Given the description of an element on the screen output the (x, y) to click on. 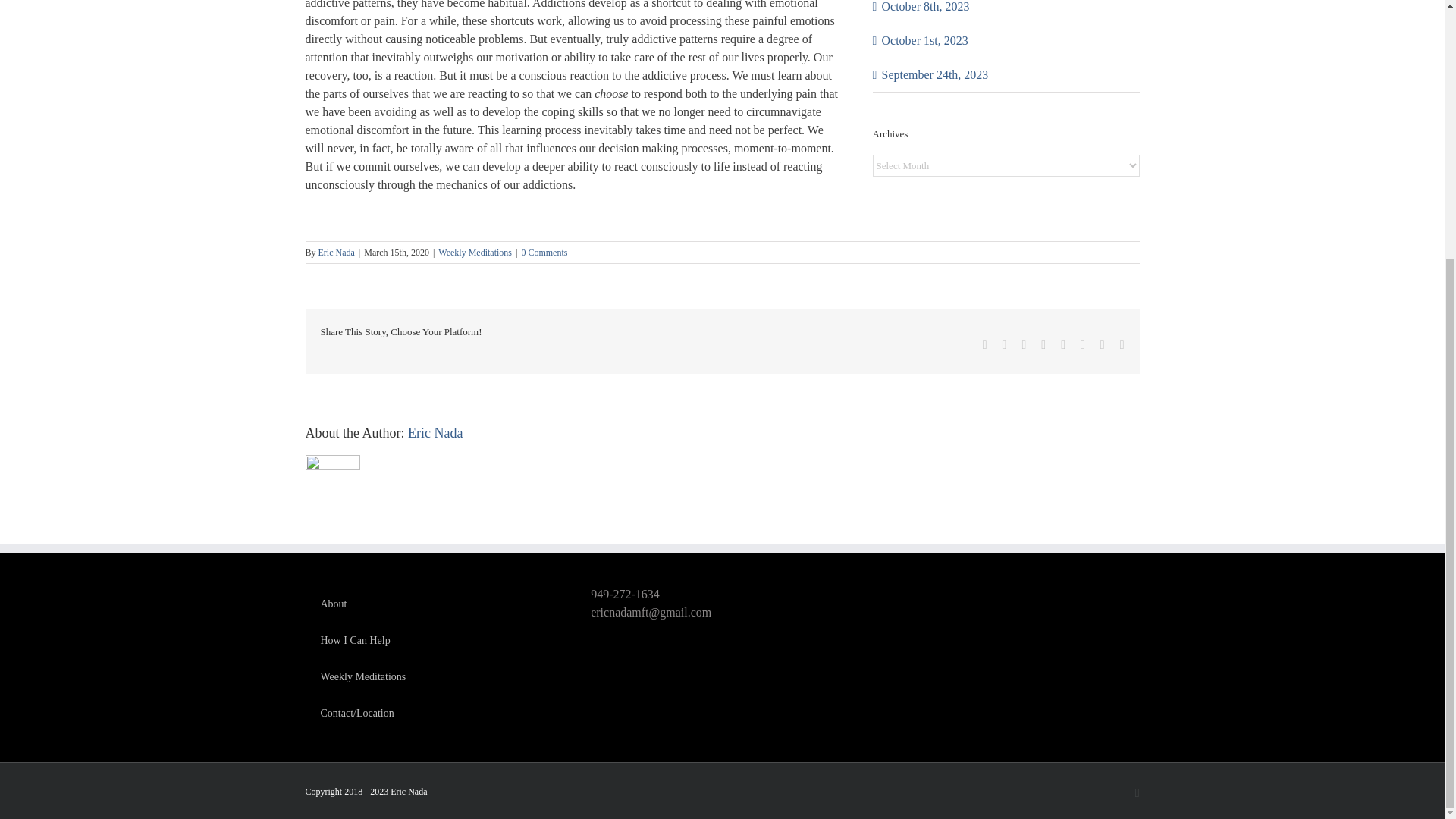
Eric Nada (336, 252)
October 8th, 2023 (924, 6)
Posts by Eric Nada (336, 252)
October 1st, 2023 (924, 40)
September 24th, 2023 (934, 74)
Posts by Eric Nada (435, 432)
Weekly Meditations (475, 252)
